Given the description of an element on the screen output the (x, y) to click on. 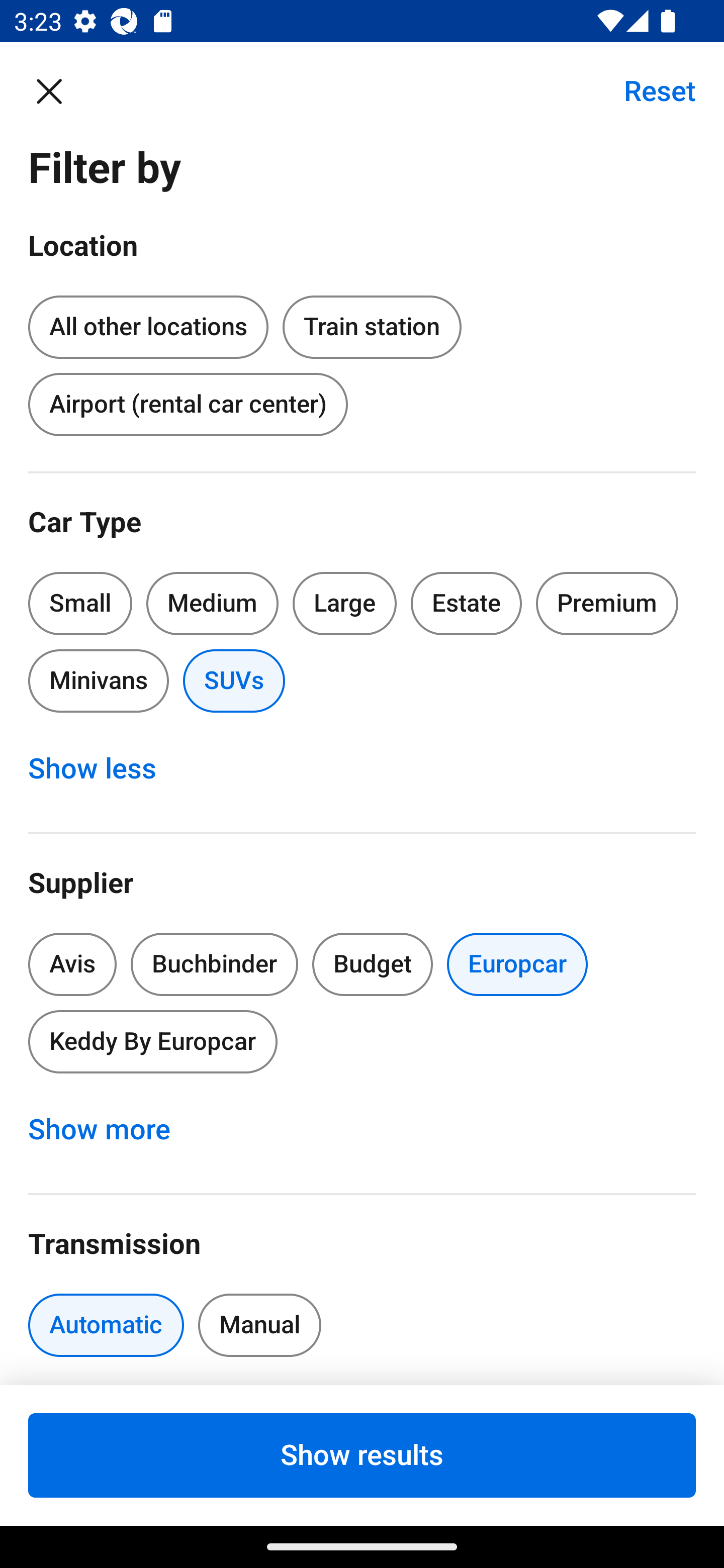
Close (59, 90)
Reset (649, 90)
All other locations (148, 323)
Train station (371, 327)
Airport (rental car center) (187, 404)
Small (80, 603)
Medium (212, 603)
Large (344, 603)
Estate (466, 603)
Premium (606, 603)
Minivans (98, 680)
Show less (102, 767)
Avis (72, 963)
Buchbinder (214, 963)
Budget (372, 963)
Keddy By Europcar (152, 1041)
Show more (109, 1129)
Manual (259, 1324)
Show results (361, 1454)
